Given the description of an element on the screen output the (x, y) to click on. 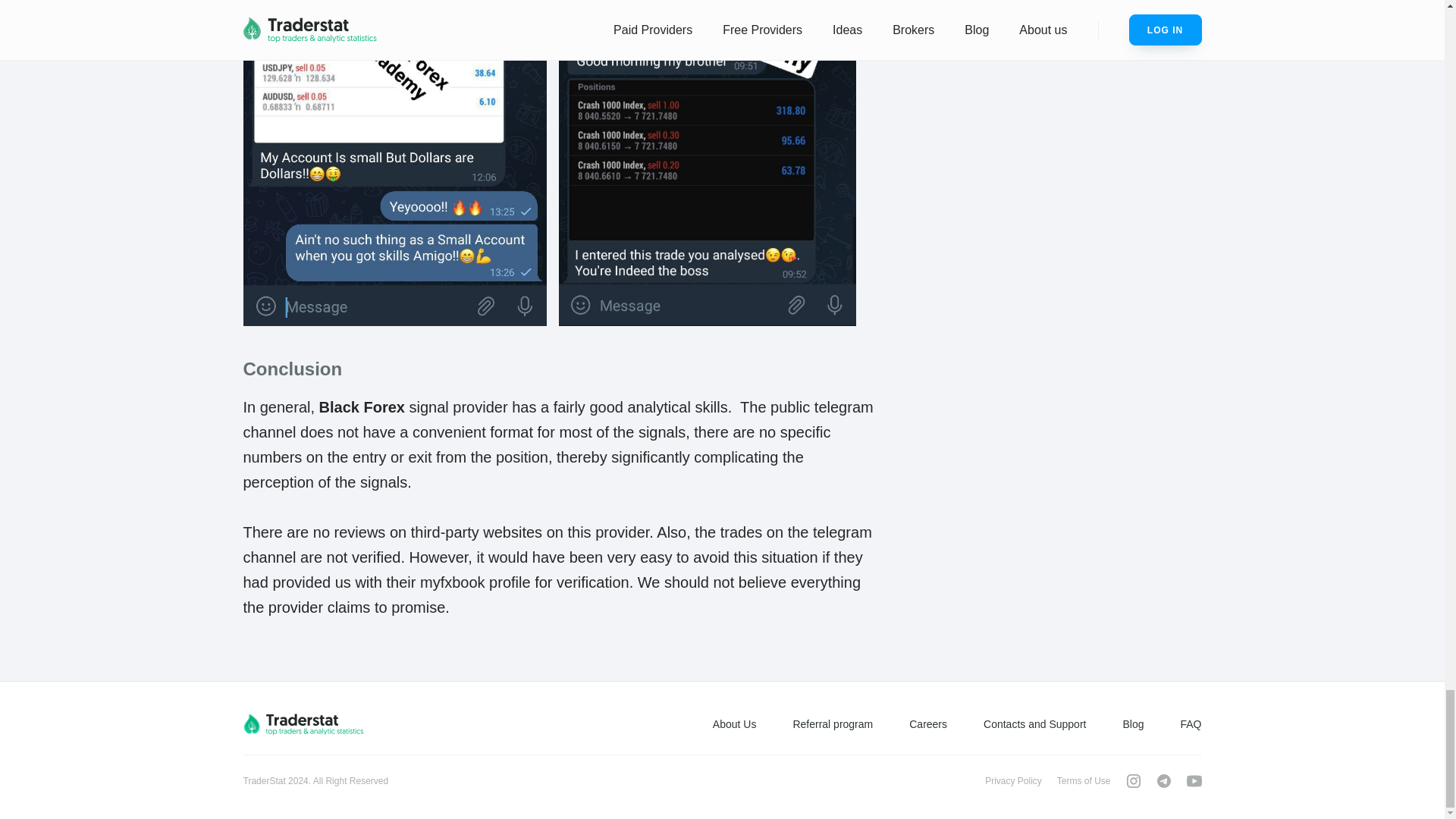
Referral program (832, 724)
FAQ (1190, 724)
About Us (735, 724)
Contacts and Support (1035, 724)
Privacy Policy (1013, 780)
Careers (927, 724)
Terms of Use (1083, 780)
Blog (1132, 724)
